Given the description of an element on the screen output the (x, y) to click on. 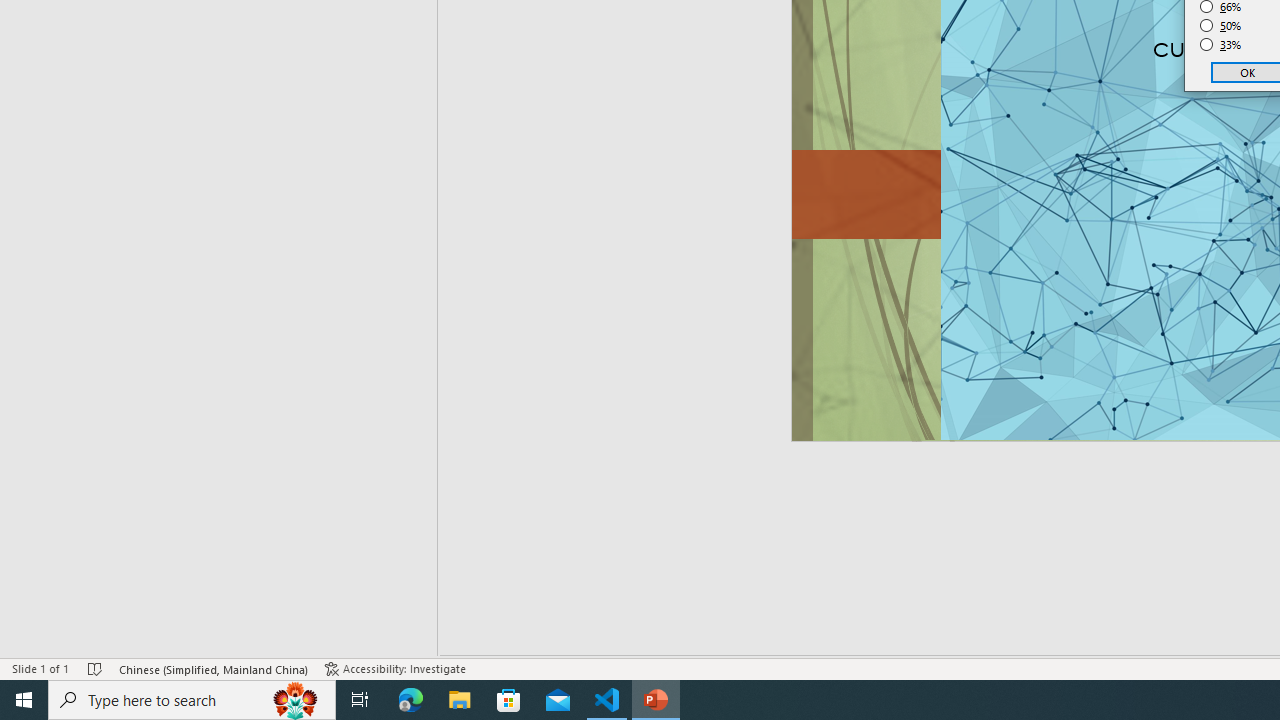
33% (1221, 44)
50% (1221, 25)
